Given the description of an element on the screen output the (x, y) to click on. 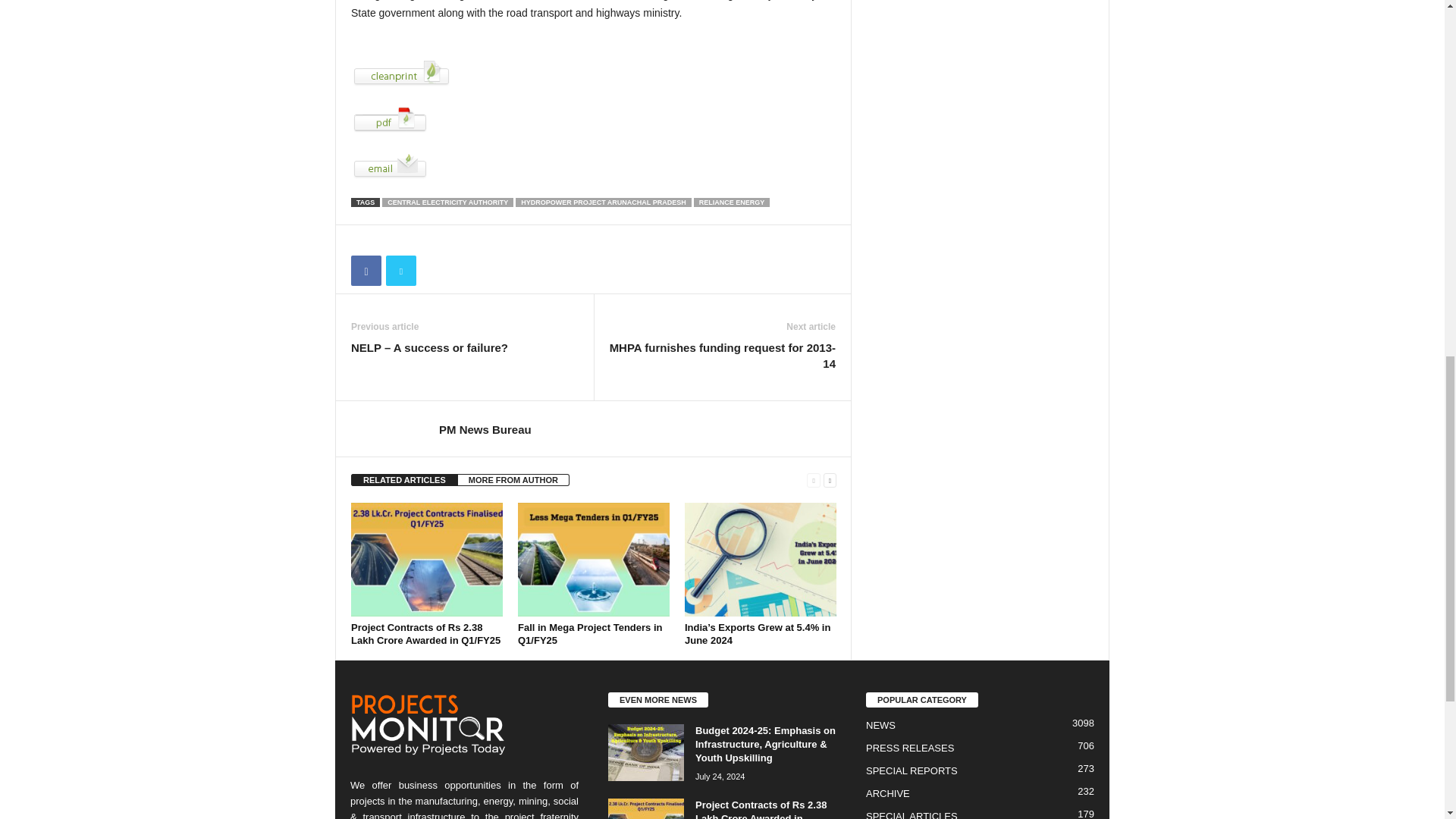
HYDROPOWER PROJECT ARUNACHAL PRADESH (603, 202)
CENTRAL ELECTRICITY AUTHORITY (447, 202)
Print page (592, 73)
RELIANCE ENERGY (732, 202)
PDF page (592, 119)
Email page (592, 165)
